Given the description of an element on the screen output the (x, y) to click on. 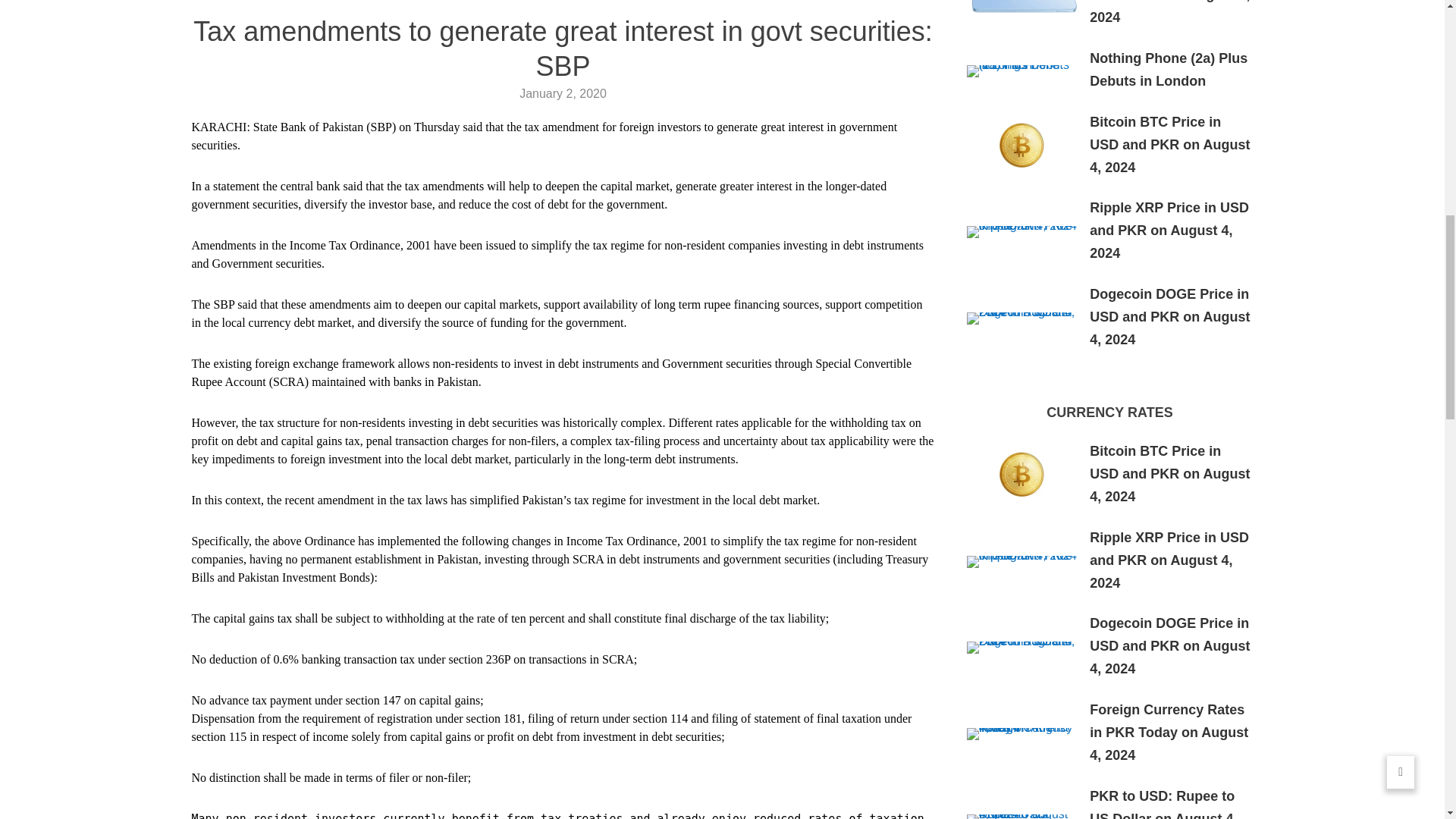
January 2, 2020 (563, 92)
